Given the description of an element on the screen output the (x, y) to click on. 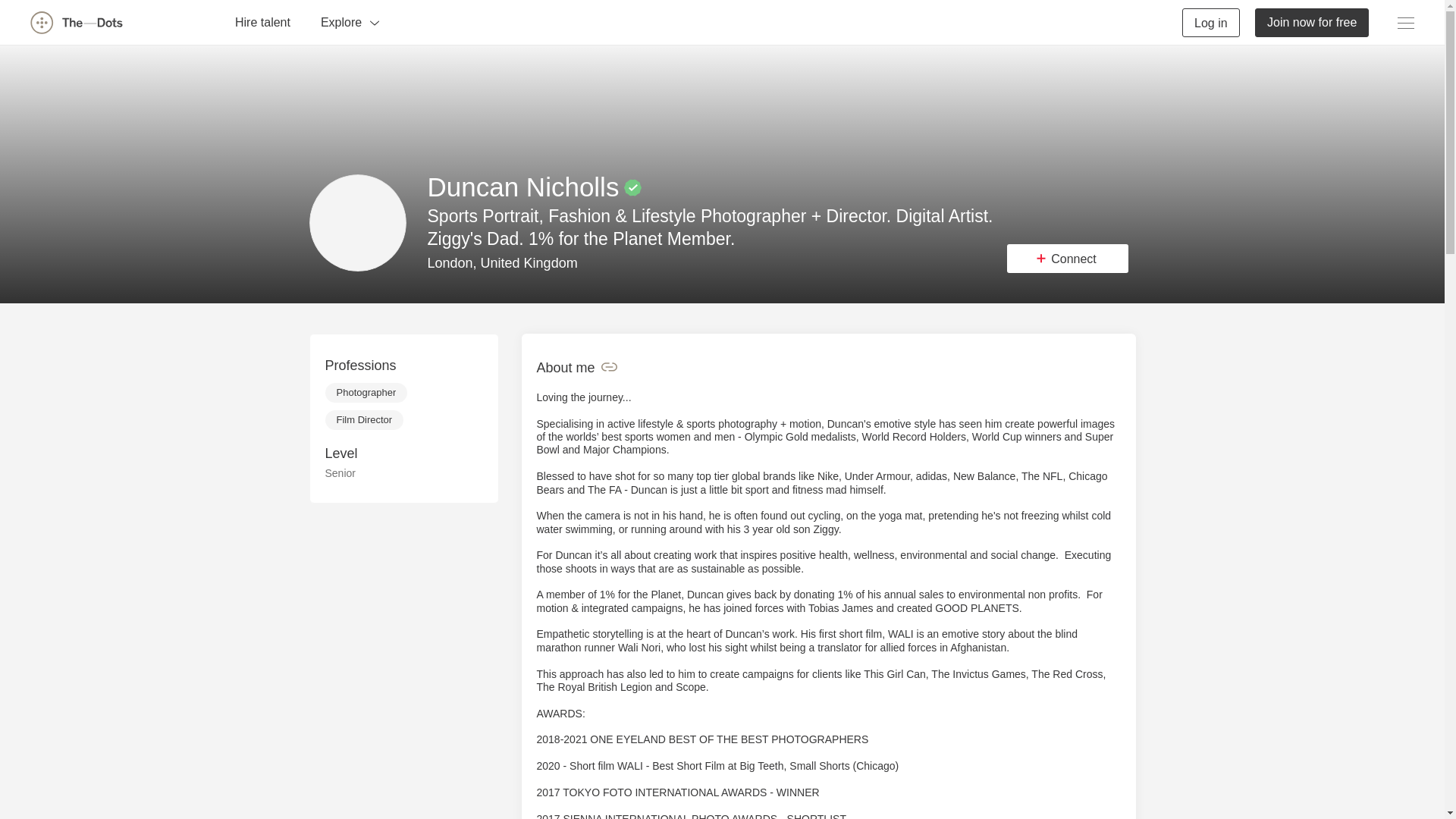
Hire talent (261, 21)
This member has been verified! Want to be verified too? (633, 187)
Connect (1067, 258)
Join now for free (1311, 21)
Explore (350, 21)
Log in (1211, 21)
